Given the description of an element on the screen output the (x, y) to click on. 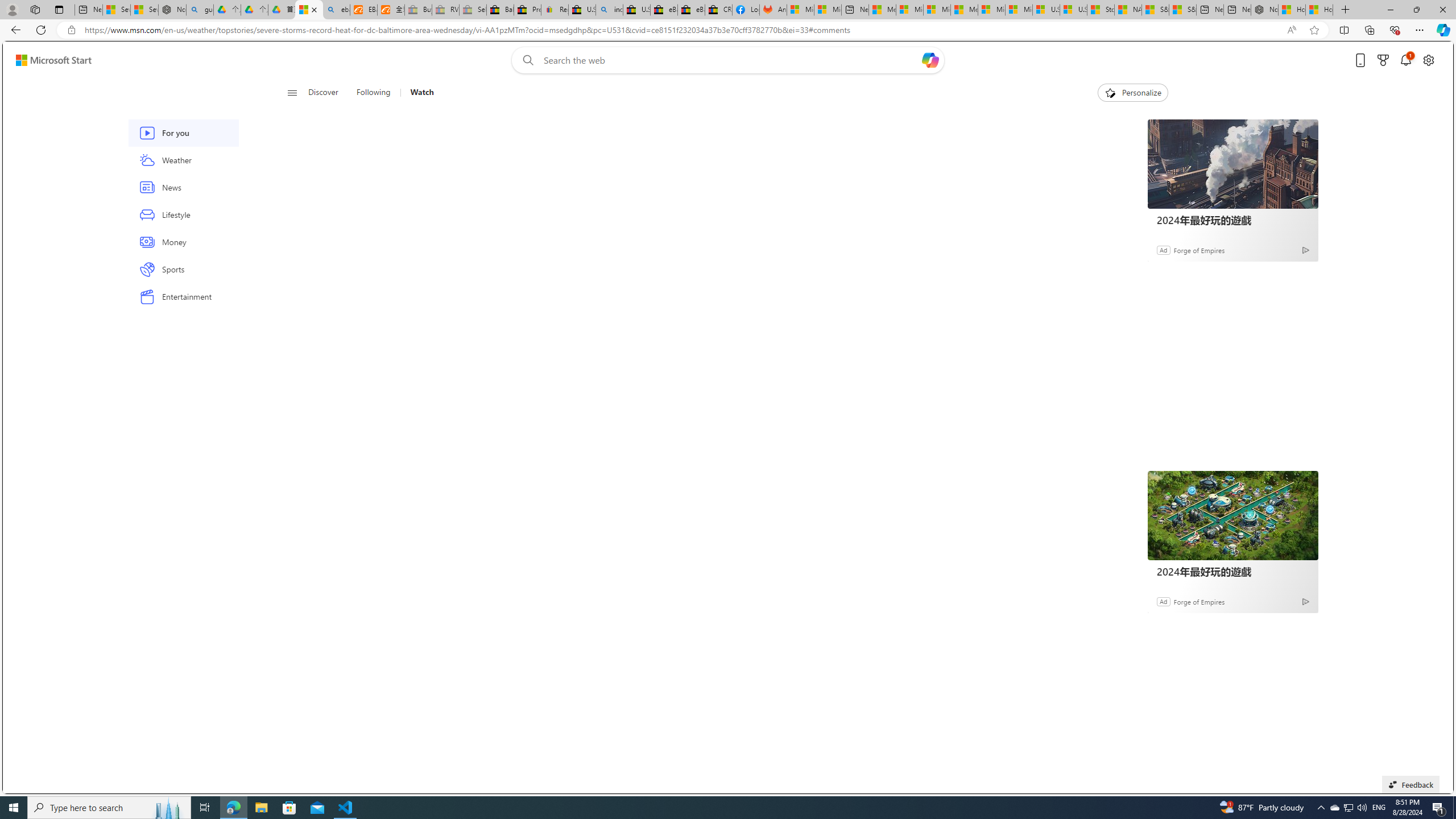
Web search (526, 60)
Microsoft rewards (1382, 60)
Log into Facebook (746, 9)
How to Use a Monitor With Your Closed Laptop (1319, 9)
Open navigation menu (292, 92)
